Given the description of an element on the screen output the (x, y) to click on. 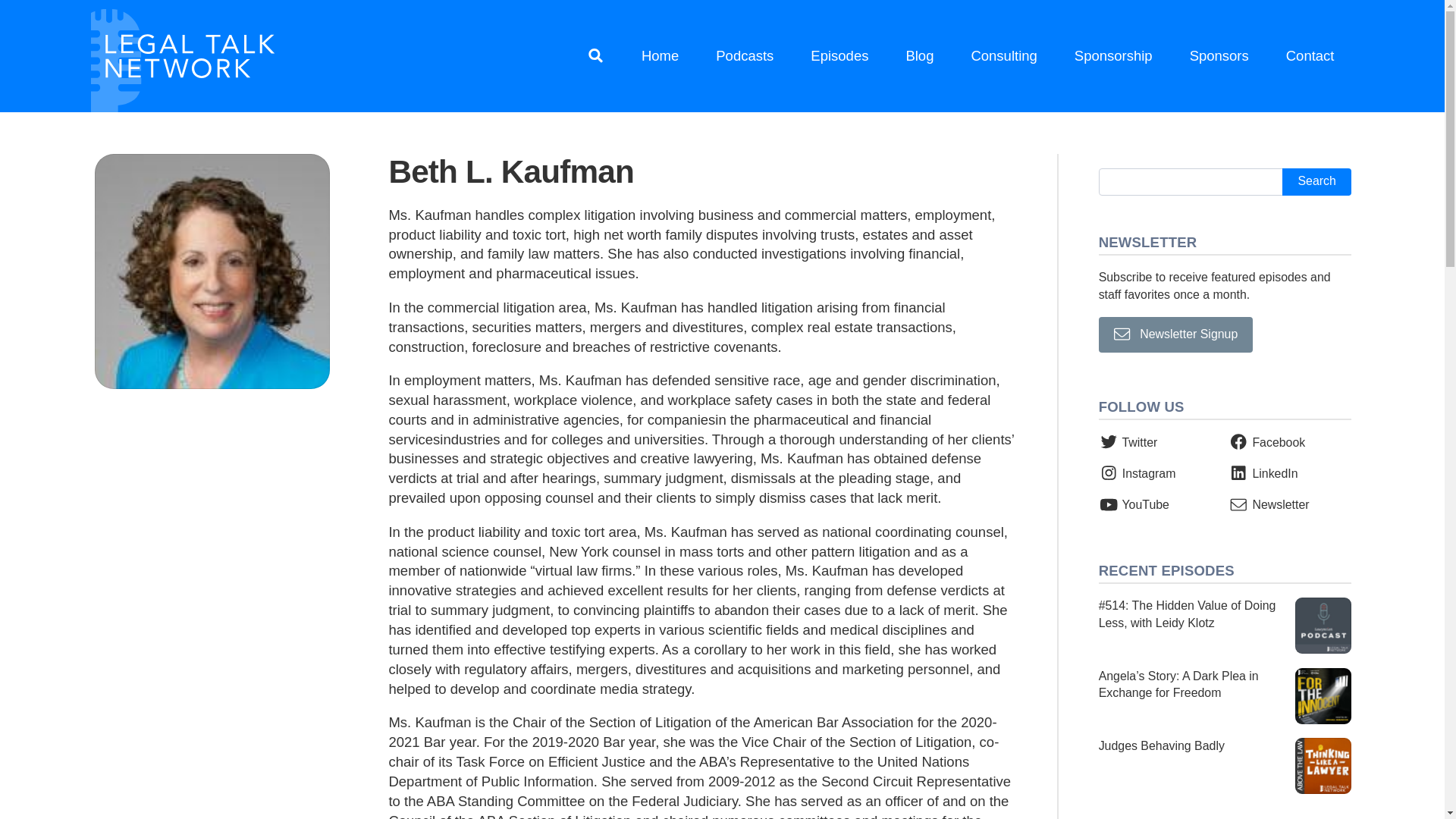
Search (1316, 181)
  Newsletter Signup (1176, 334)
Twitter (1128, 441)
Search (1316, 181)
Facebook (1266, 441)
Newsletter (1268, 504)
LinkedIn (1262, 472)
Beth L. Kaufman (212, 271)
Judges Behaving Badly (1225, 765)
Sponsorship (1113, 56)
Consulting (1003, 56)
Instagram (1137, 472)
YouTube (1134, 504)
